Given the description of an element on the screen output the (x, y) to click on. 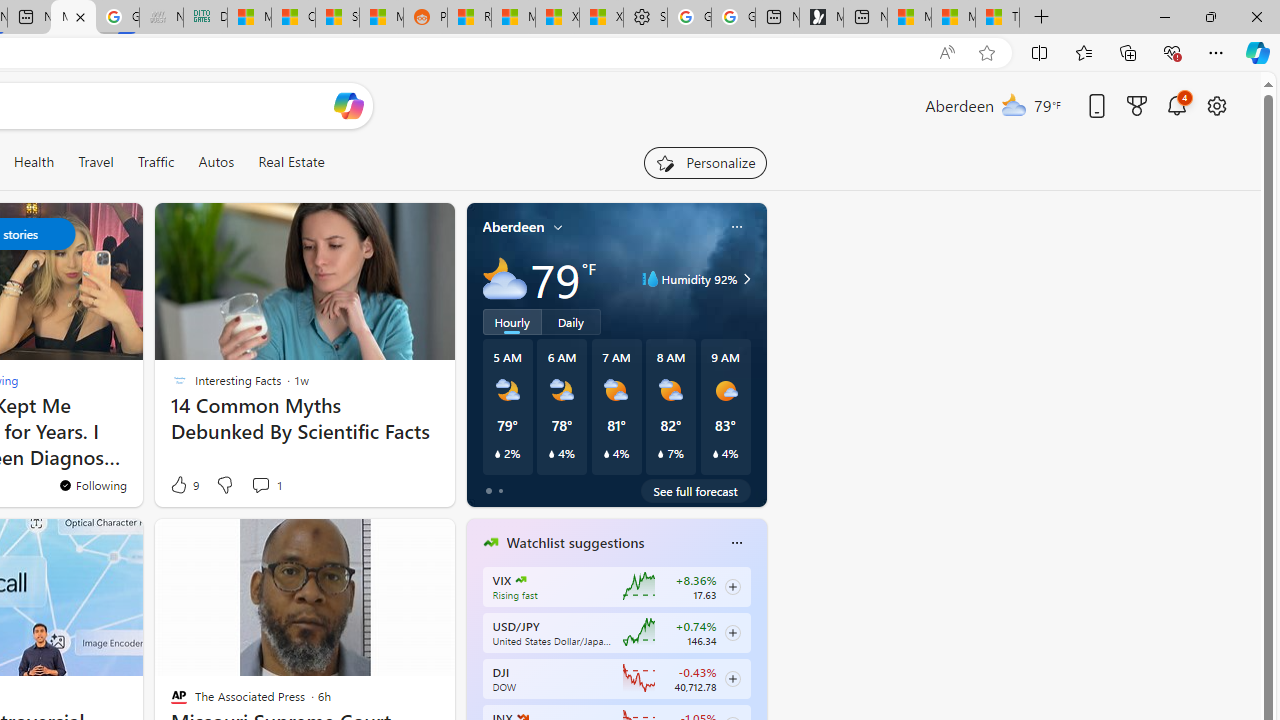
Personalize your feed" (704, 162)
Autos (216, 162)
Health (34, 161)
MSN (381, 17)
Daily (571, 321)
Aberdeen (513, 227)
Notifications (1176, 105)
